Given the description of an element on the screen output the (x, y) to click on. 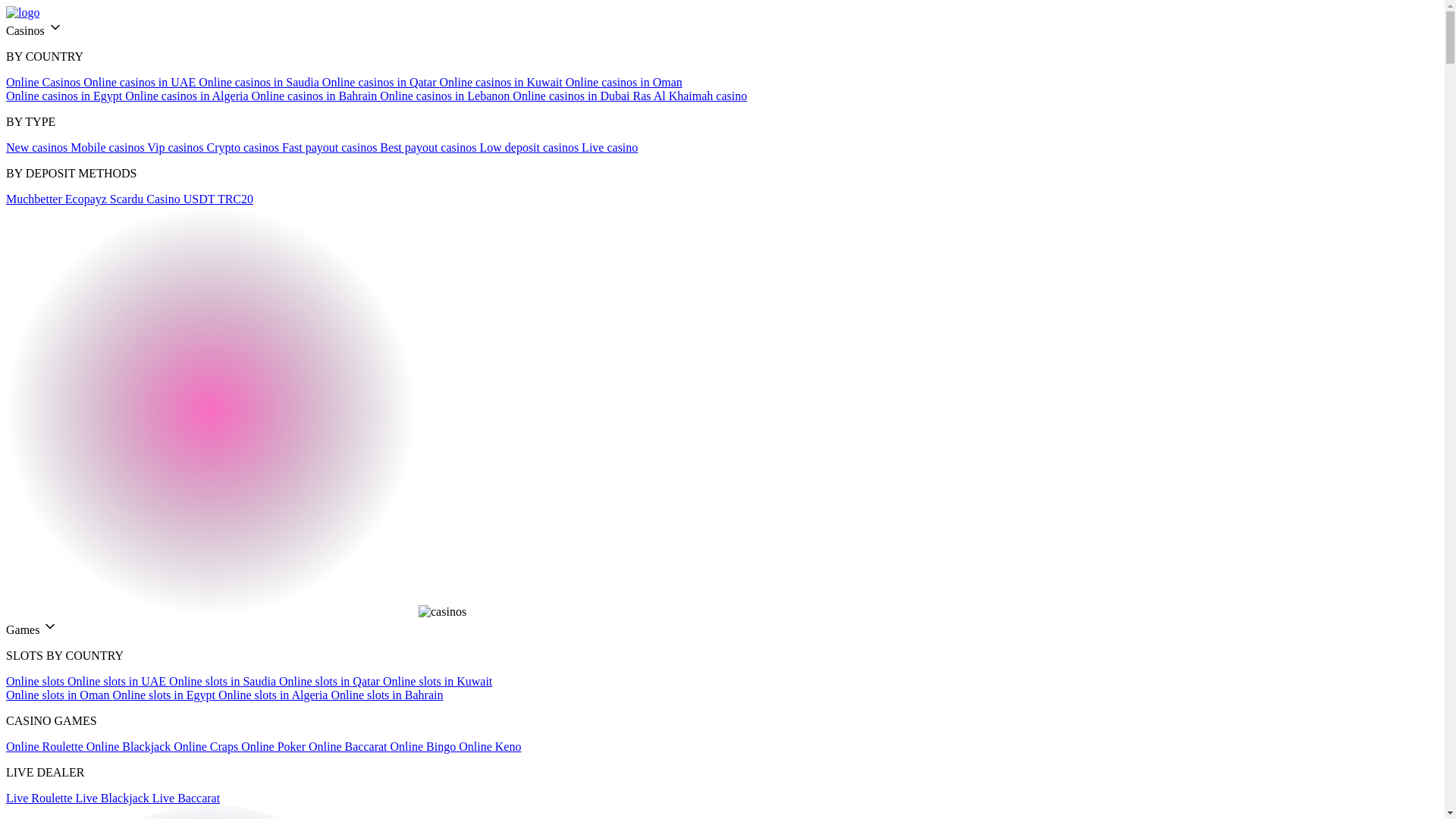
Vip casinos (176, 146)
Online slots in Kuwait (437, 680)
Online casinos in Kuwait (501, 82)
Online Roulette (45, 746)
Online Casinos (43, 82)
Muchbetter (35, 198)
Online casinos in Oman (624, 82)
Online Poker (274, 746)
Online casinos in Lebanon (446, 95)
Online slots in Bahrain (386, 694)
